Given the description of an element on the screen output the (x, y) to click on. 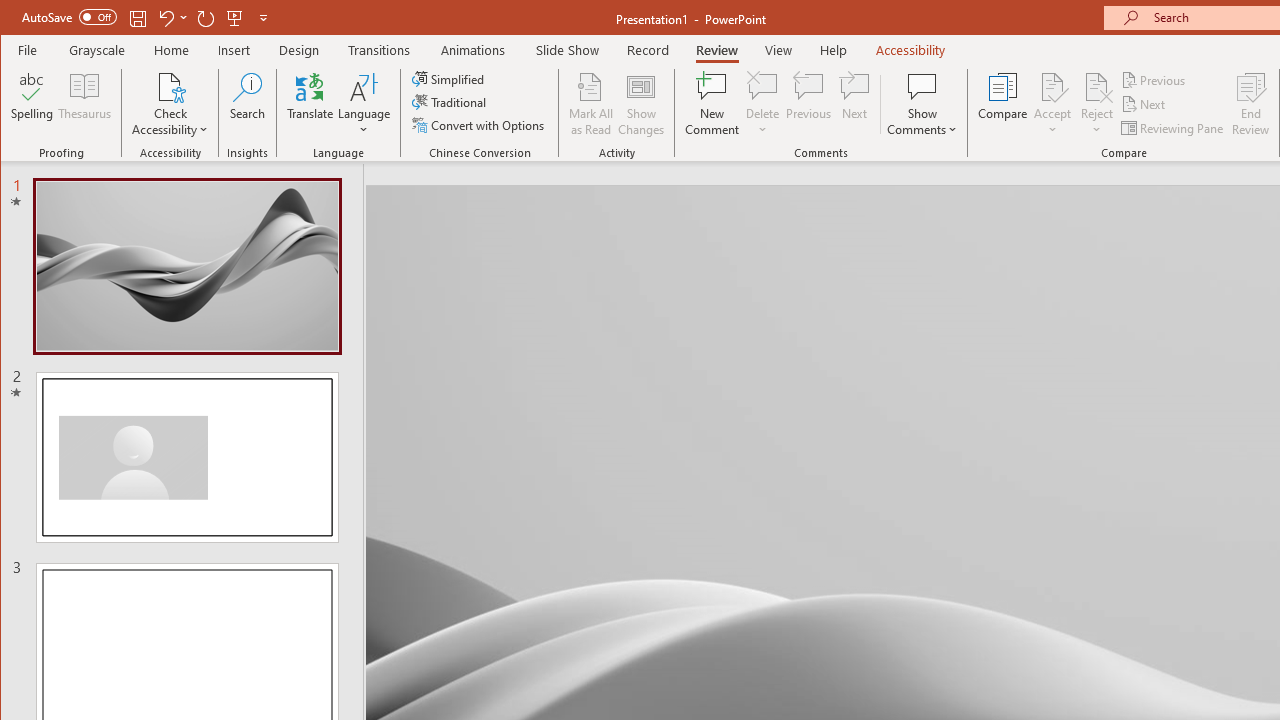
Accept (1052, 104)
Reviewing Pane (1173, 127)
Traditional (450, 101)
Reject Change (1096, 86)
